Given the description of an element on the screen output the (x, y) to click on. 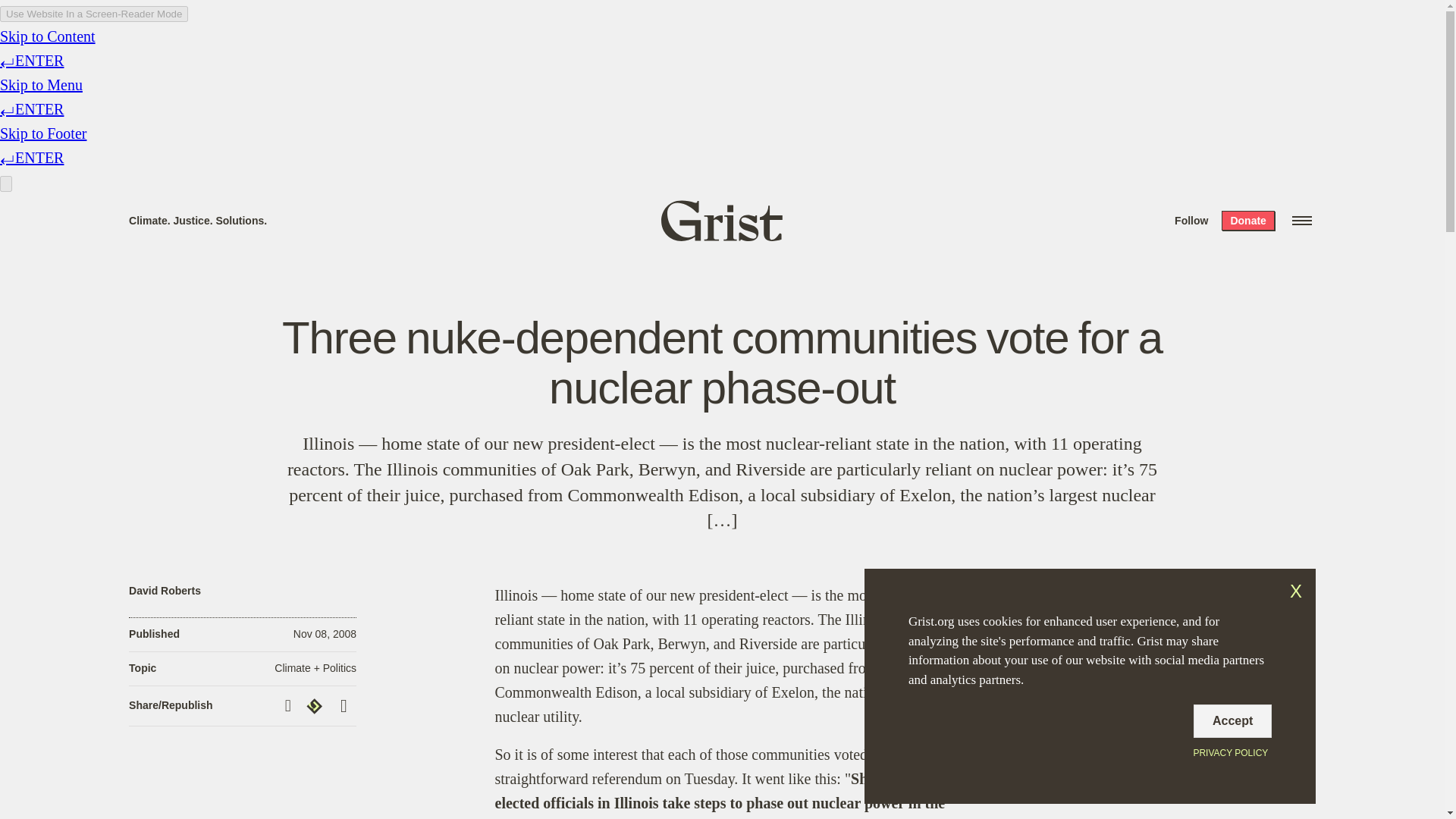
Grist home (722, 219)
Republish the article (316, 705)
Donate (1247, 220)
Accept (1232, 720)
Follow (1191, 220)
Copy article link (289, 705)
Search (227, 18)
